Given the description of an element on the screen output the (x, y) to click on. 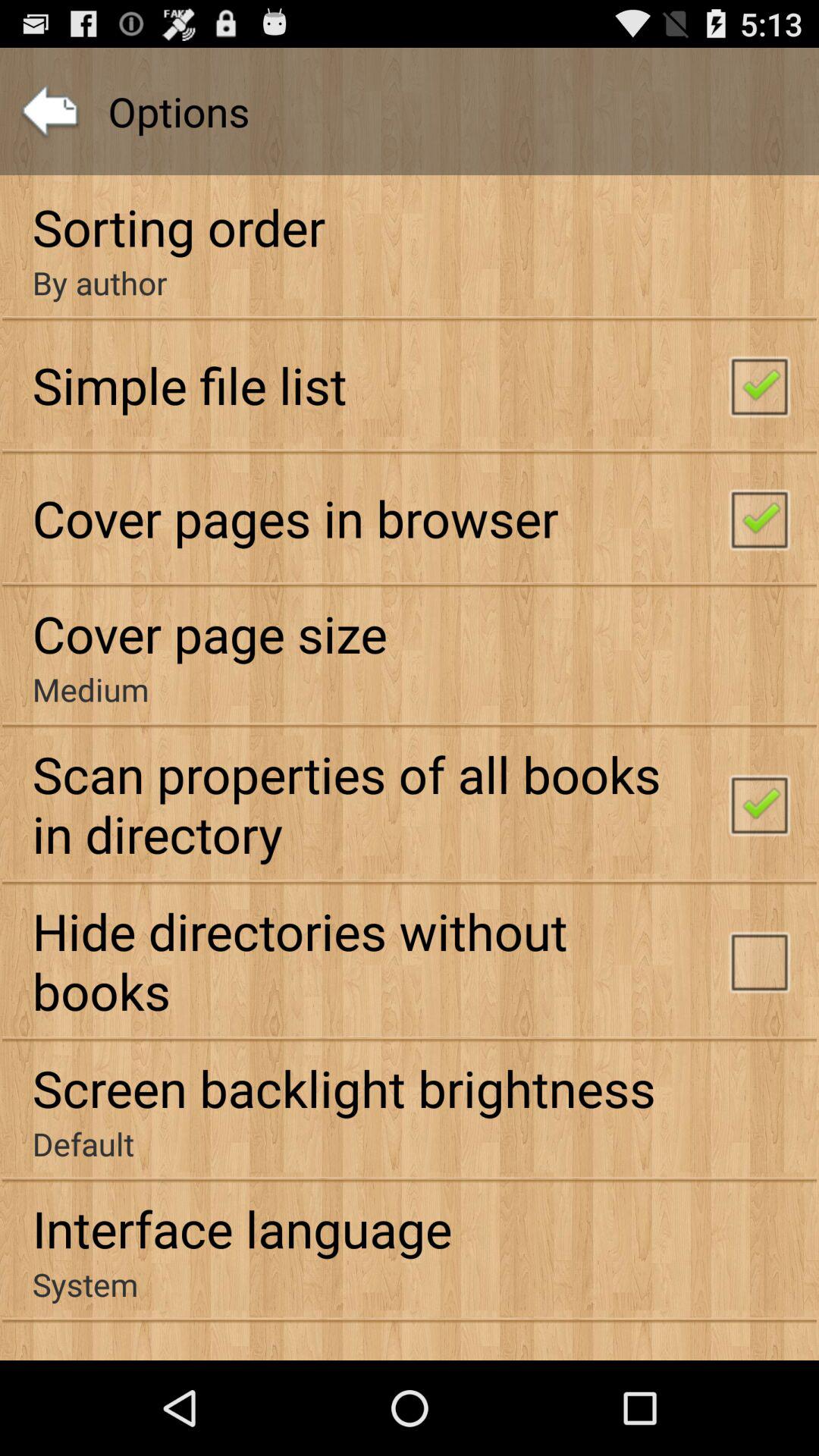
open app to the left of options (49, 111)
